Given the description of an element on the screen output the (x, y) to click on. 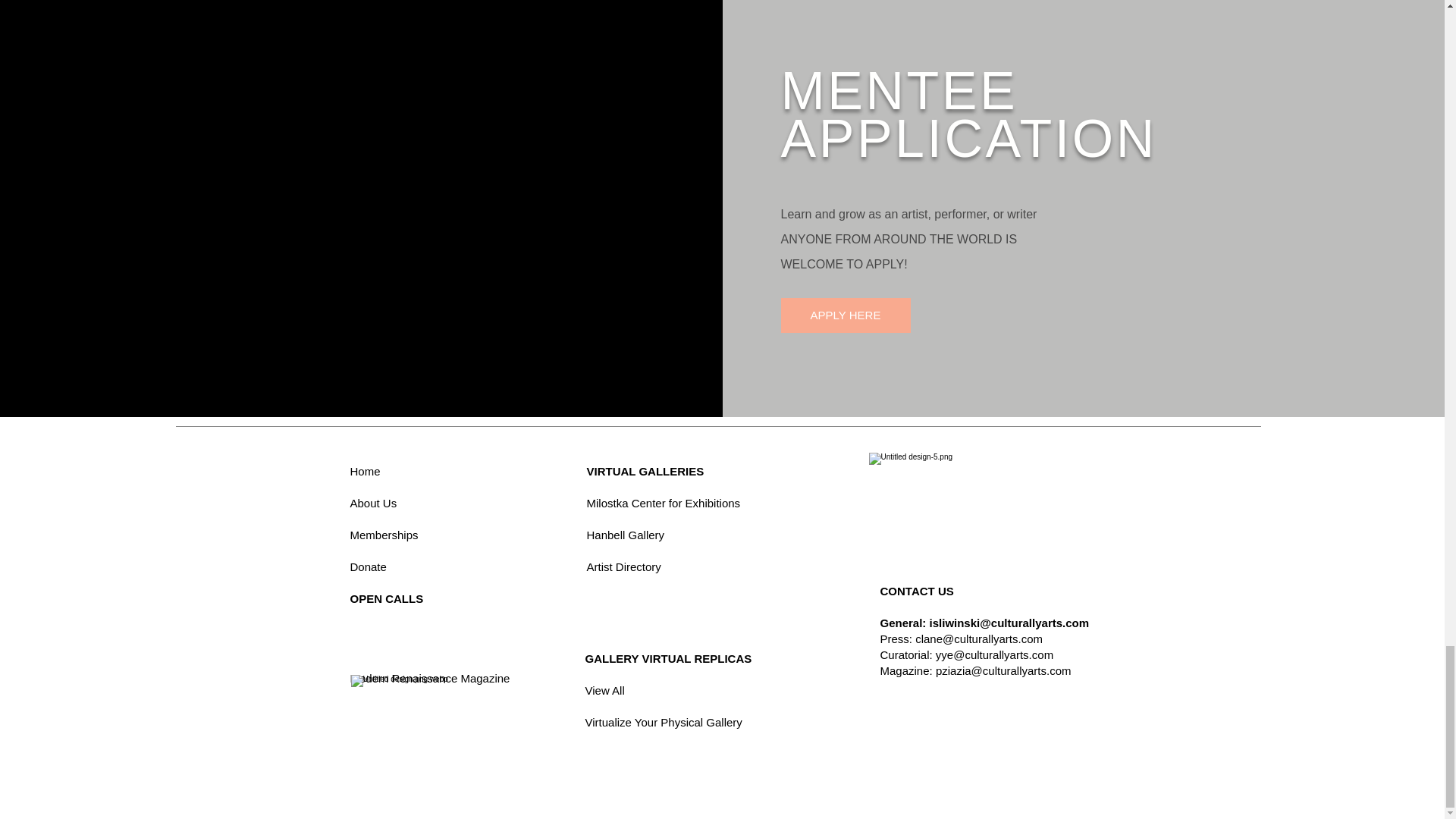
APPLY HERE (845, 315)
